Given the description of an element on the screen output the (x, y) to click on. 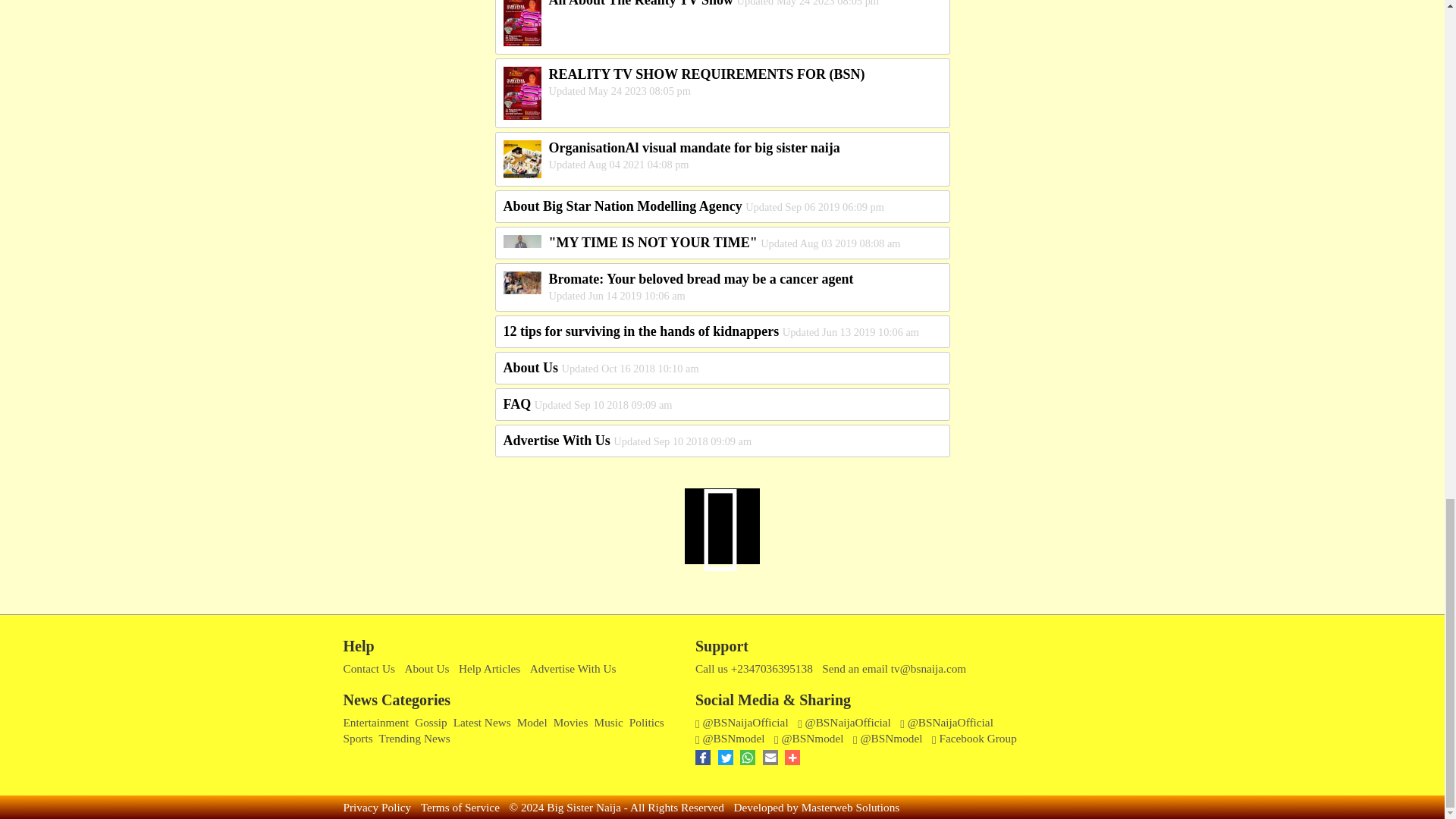
Contact Us (368, 668)
Advertise With Us (556, 440)
Click to share on Facebook (728, 760)
Click for more sharing options (793, 760)
Music (608, 722)
Bromate: Your beloved bread may be a cancer agent (700, 278)
"MY TIME IS NOT YOUR TIME" (652, 242)
Help Articles (488, 668)
About Big Star Nation Modelling Agency (622, 206)
Click to share on Facebook (706, 760)
